Given the description of an element on the screen output the (x, y) to click on. 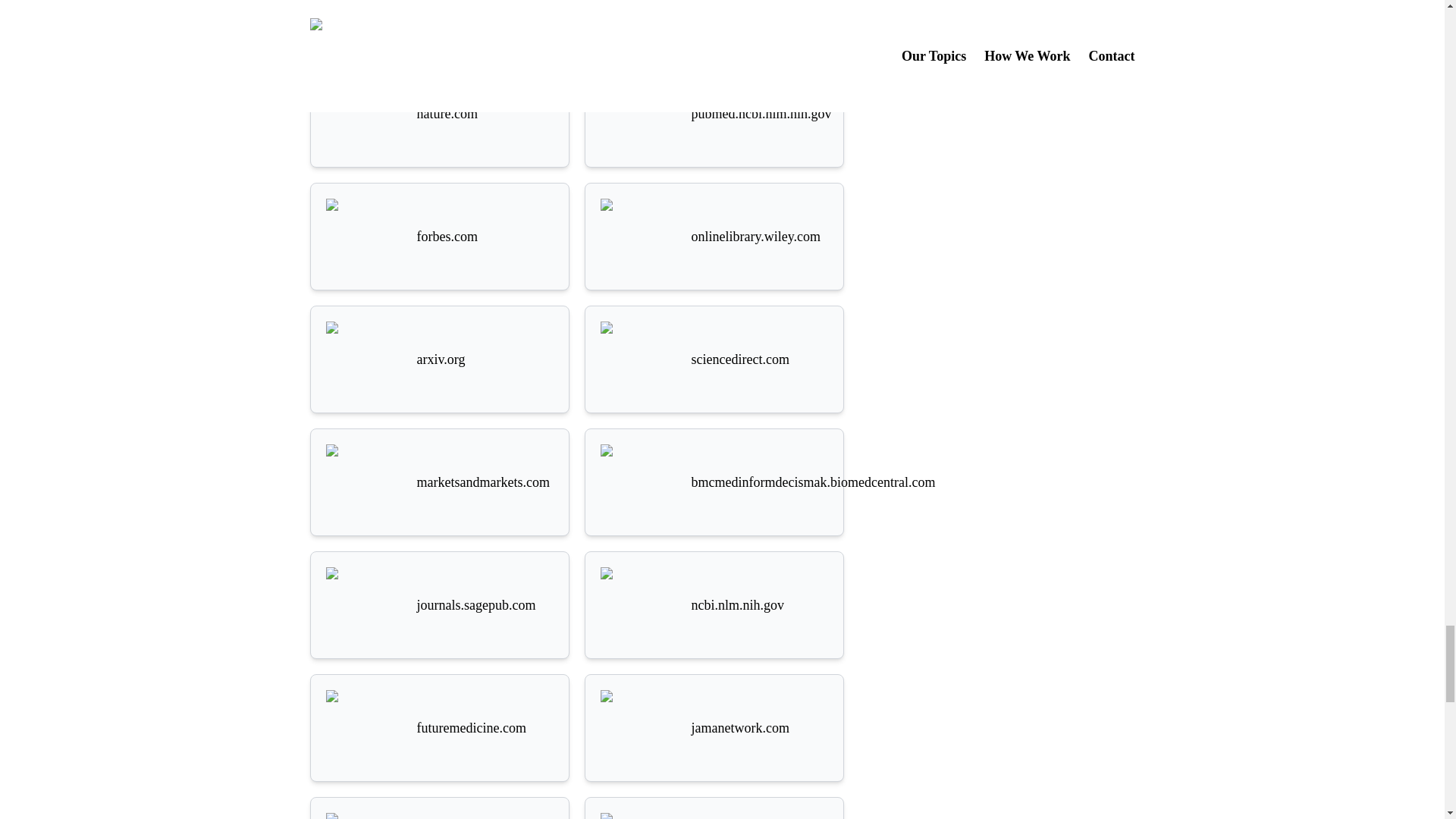
onlinelibrary.wiley.com (713, 236)
journals.sagepub.com (439, 604)
Logo of ncbi.nlm.nih.gov (638, 604)
frontiersin.org (439, 816)
Logo of cell.com (638, 816)
forbes.com (439, 236)
Logo of marketsandmarkets.com (363, 482)
pubmed.ncbi.nlm.nih.gov (713, 113)
ncbi.nlm.nih.gov (713, 604)
Logo of researchandmarkets.com (638, 14)
